Given the description of an element on the screen output the (x, y) to click on. 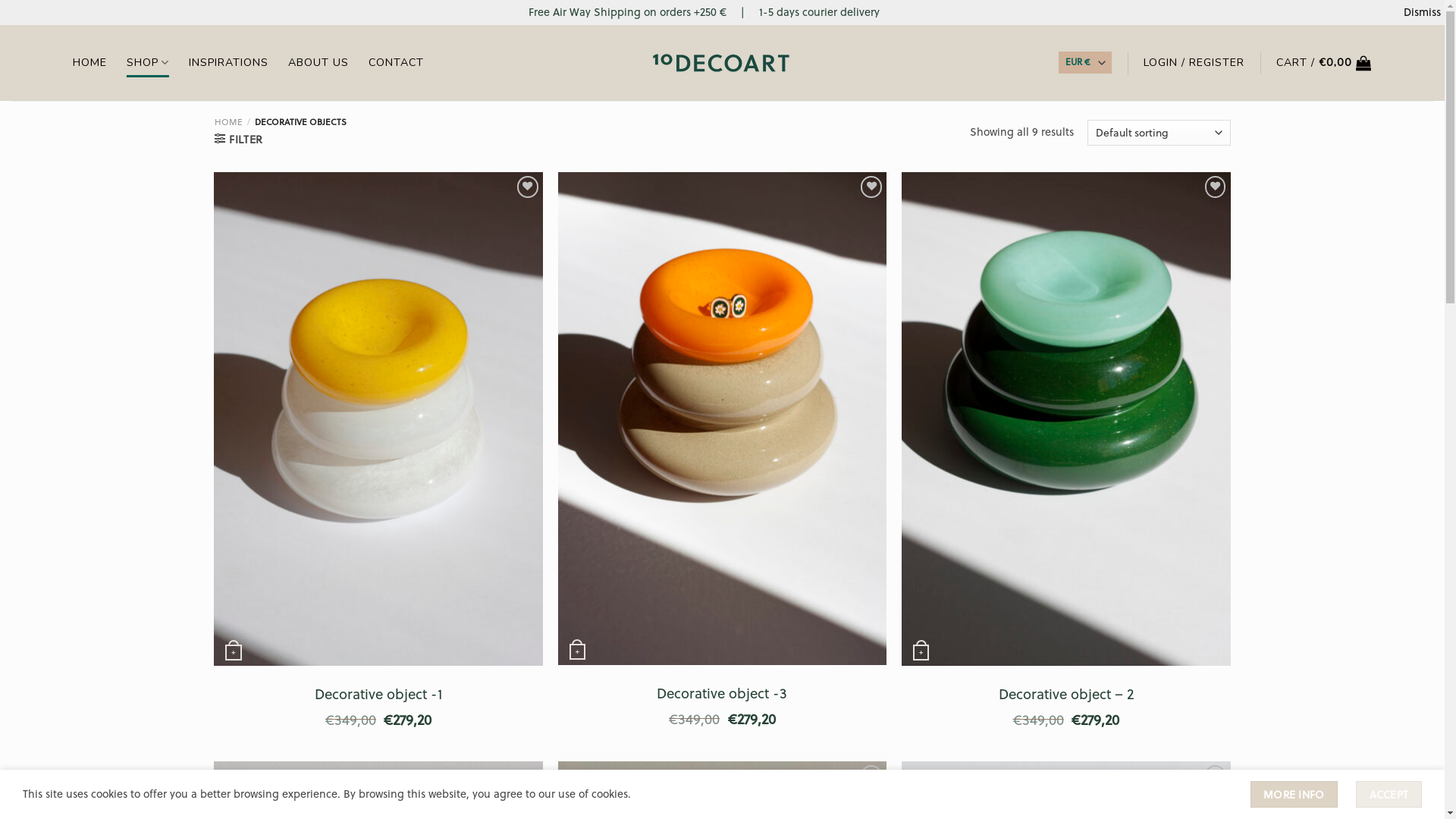
HOME Element type: text (227, 121)
HOME Element type: text (89, 62)
SHOP Element type: text (147, 62)
Dismiss Element type: text (1421, 12)
FILTER Element type: text (238, 138)
MORE INFO Element type: text (1294, 794)
ACCEPT Element type: text (1388, 794)
CONTACT Element type: text (395, 62)
10 DECOART - Original jewellery Element type: hover (721, 62)
Decorative object -1 Element type: text (378, 693)
LOGIN / REGISTER Element type: text (1193, 62)
ABOUT US Element type: text (318, 62)
INSPIRATIONS Element type: text (228, 62)
Decorative object -3 Element type: text (721, 693)
